Given the description of an element on the screen output the (x, y) to click on. 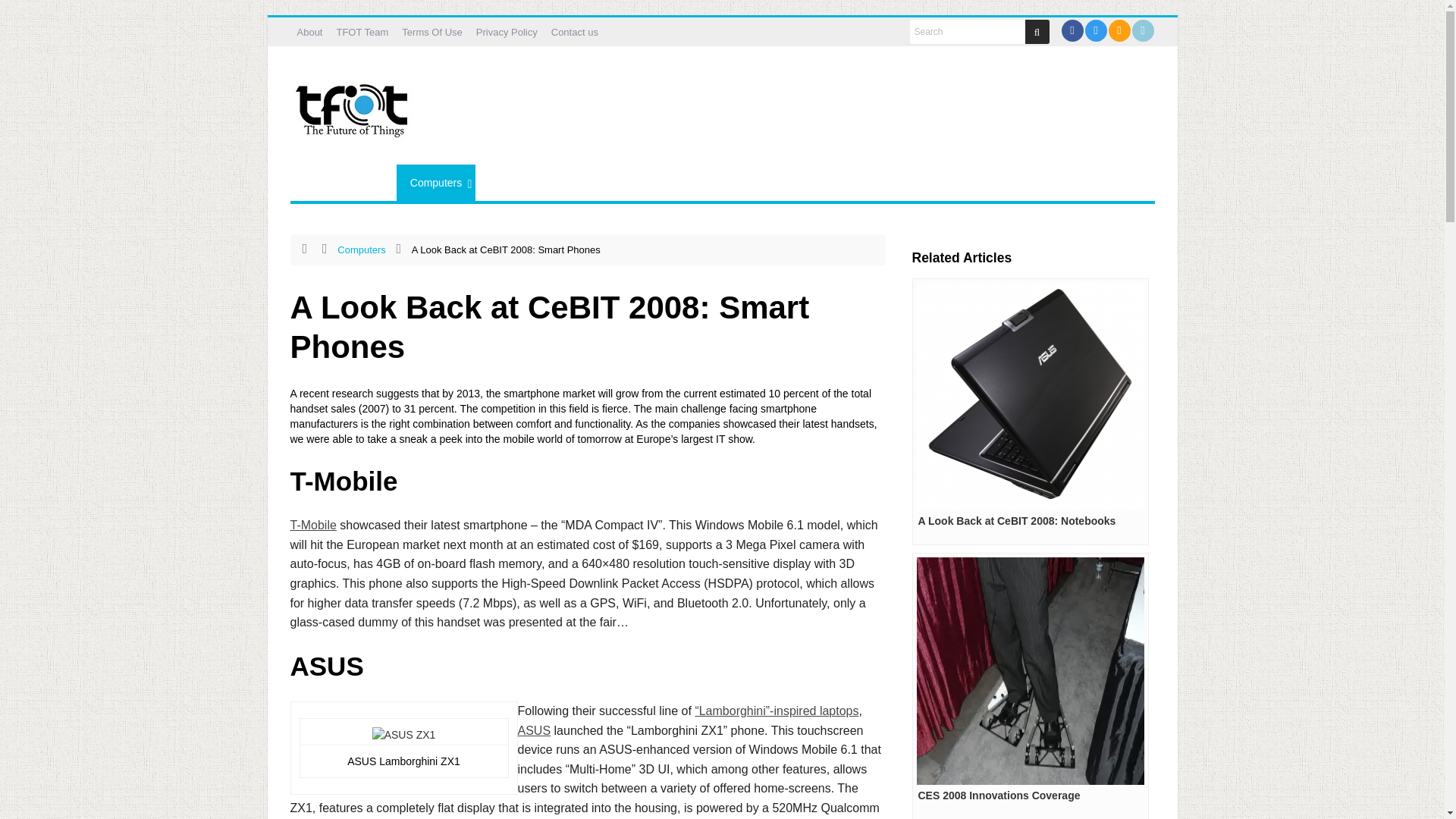
Search (967, 31)
Privacy Policy (506, 32)
Facebook (1071, 30)
Science (508, 182)
Privacy Policy (506, 32)
Communications (342, 182)
Technology (580, 182)
TFOT Team (361, 32)
Terms Of Use (431, 32)
Contact us (574, 32)
